Given the description of an element on the screen output the (x, y) to click on. 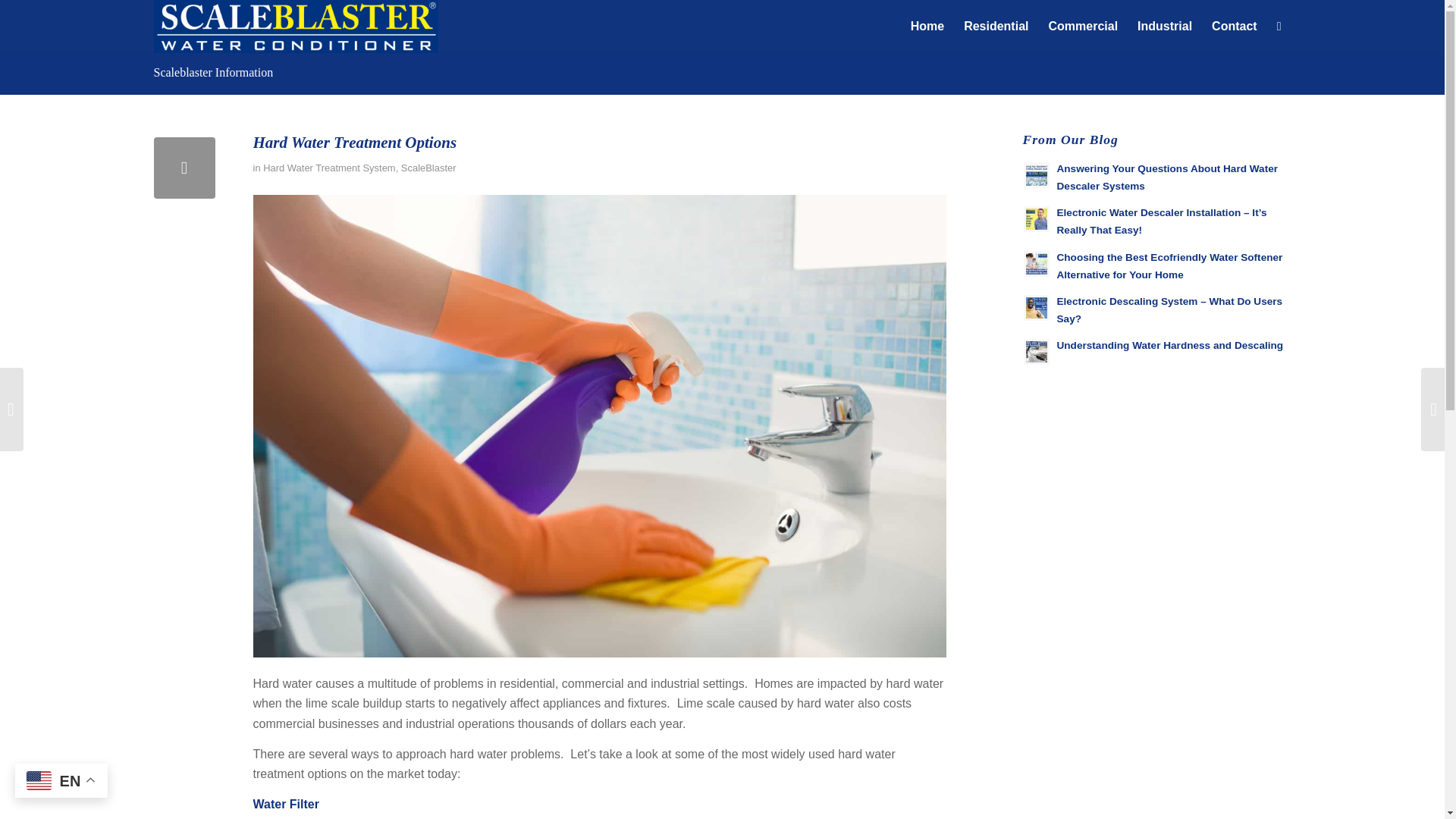
Contact (1234, 26)
Industrial (1164, 26)
Residential (995, 26)
Hard Water Treatment System (328, 167)
Commercial (1082, 26)
Scaleblaster Information (212, 72)
ScaleBlaster (429, 167)
Home (927, 26)
